Given the description of an element on the screen output the (x, y) to click on. 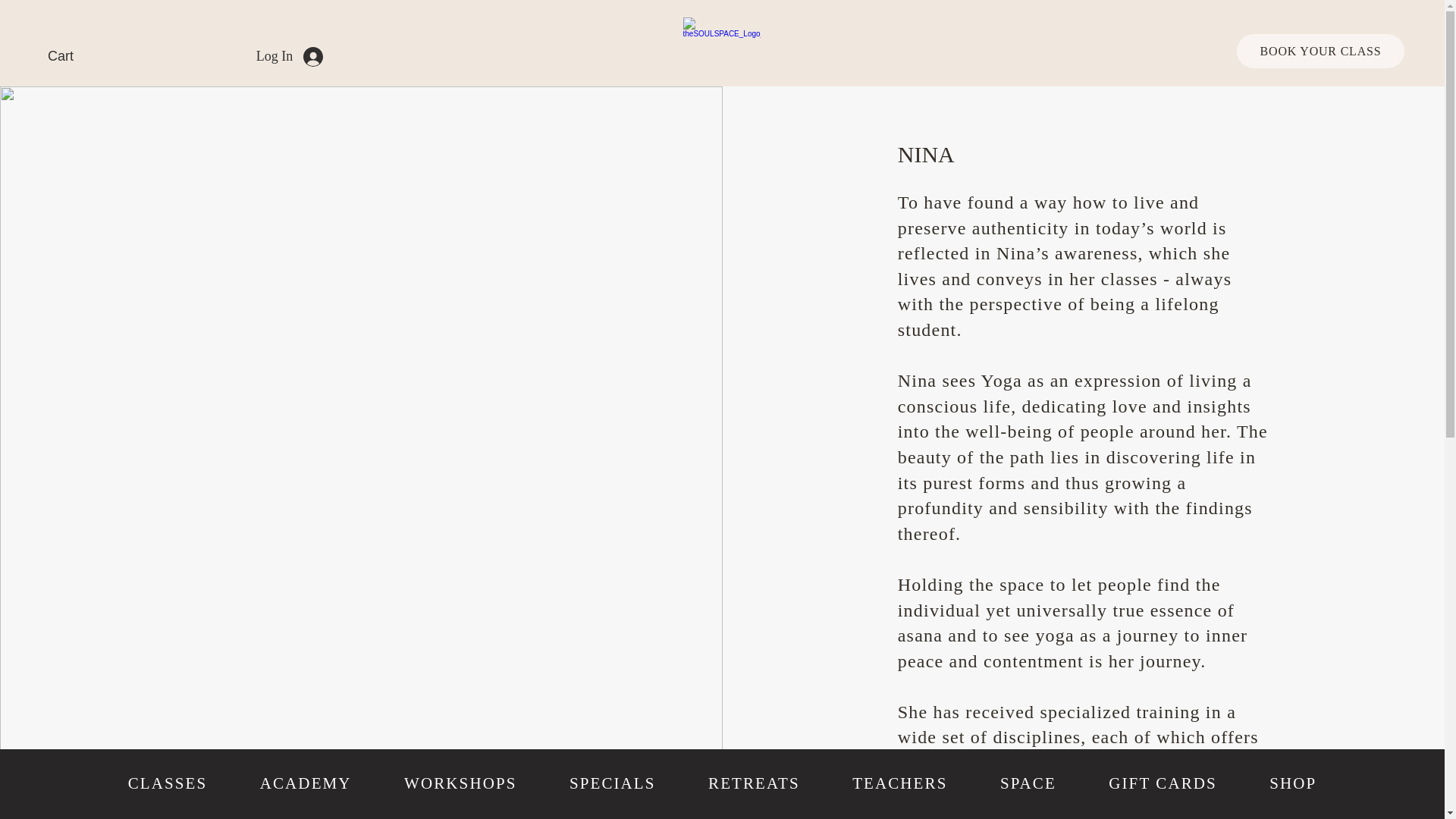
TEACHERS (899, 784)
SPACE (1027, 784)
Cart (72, 55)
ACADEMY (305, 784)
WORKSHOPS (459, 784)
Cart (72, 55)
CLASSES (167, 784)
SPECIALS (611, 784)
RETREATS (753, 784)
BOOK YOUR CLASS (1320, 50)
Log In (290, 56)
SHOP (1293, 784)
GIFT CARDS (1162, 784)
